Given the description of an element on the screen output the (x, y) to click on. 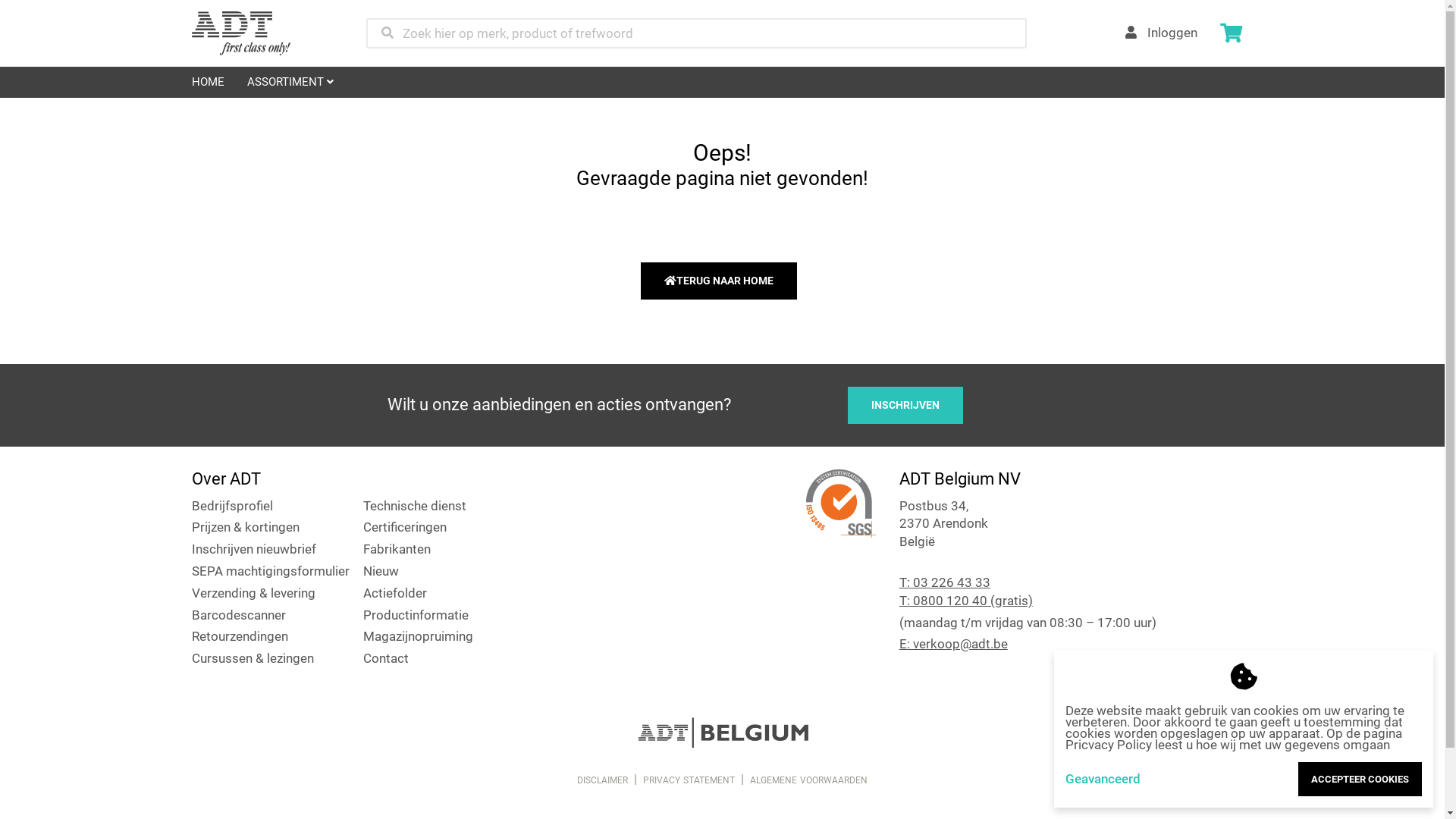
Certificeringen Element type: text (404, 526)
Inschrijven nieuwbrief Element type: text (253, 548)
INSCHRIJVEN Element type: text (905, 404)
Barcodescanner Element type: text (238, 614)
ASSORTIMENT Element type: text (290, 81)
Fabrikanten Element type: text (396, 548)
HOME Element type: text (207, 81)
Actiefolder Element type: text (394, 592)
T: 03 226 43 33 Element type: text (944, 581)
Contact Element type: text (385, 657)
SEPA machtigingsformulier Element type: text (269, 570)
algemene voorwaarden Element type: text (808, 778)
disclaimer Element type: text (602, 778)
Prijzen & kortingen Element type: text (244, 526)
Nieuw Element type: text (380, 570)
TERUG NAAR HOME Element type: text (718, 280)
Inloggen Element type: text (1161, 32)
E: verkoop@adt.be Element type: text (953, 643)
Retourzendingen Element type: text (239, 635)
Cursussen & lezingen Element type: text (252, 657)
privacy statement Element type: text (688, 778)
Bedrijfsprofiel Element type: text (231, 505)
Verzending & levering Element type: text (252, 592)
Magazijnopruiming Element type: text (418, 635)
ACCEPTEER COOKIES Element type: text (1359, 779)
T: 0800 120 40 (gratis) Element type: text (965, 600)
Productinformatie Element type: text (415, 614)
Technische dienst Element type: text (414, 505)
Geavanceerd Element type: text (1102, 778)
